Given the description of an element on the screen output the (x, y) to click on. 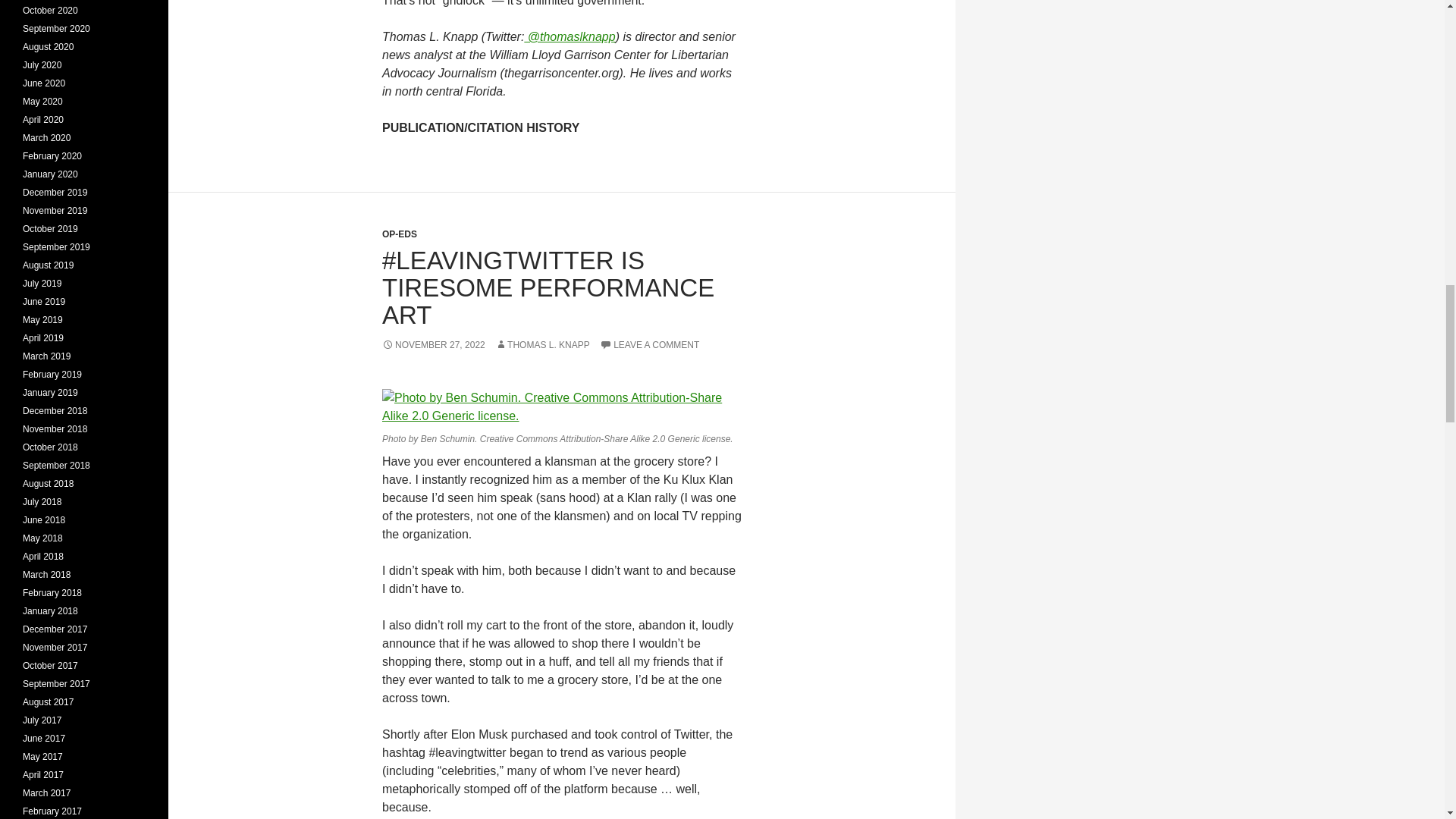
LEAVE A COMMENT (648, 344)
THOMAS L. KNAPP (542, 344)
NOVEMBER 27, 2022 (432, 344)
OP-EDS (398, 234)
